Given the description of an element on the screen output the (x, y) to click on. 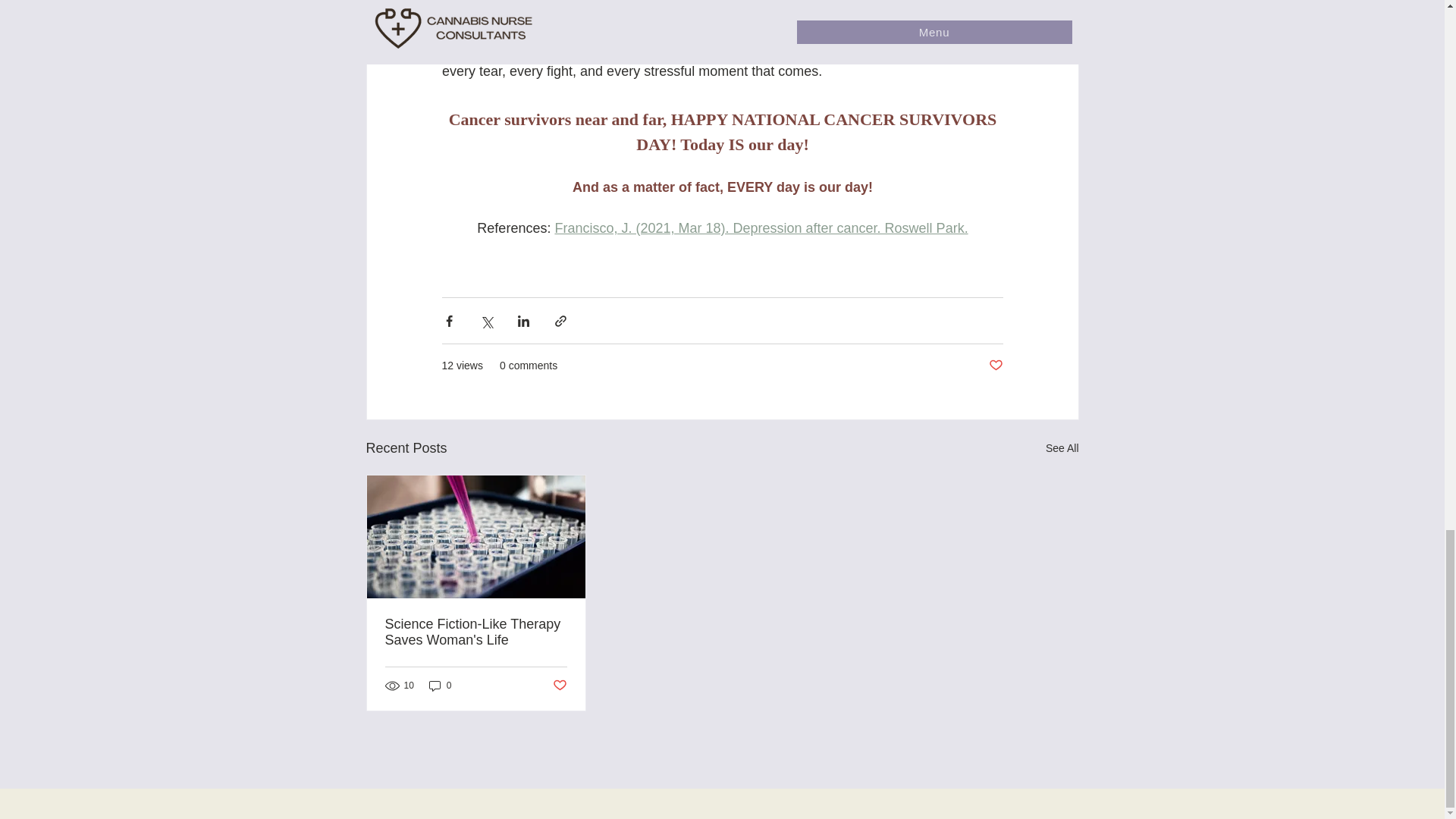
Science Fiction-Like Therapy Saves Woman's Life (476, 632)
Post not marked as liked (995, 365)
Post not marked as liked (558, 685)
See All (1061, 448)
0 (440, 685)
